Given the description of an element on the screen output the (x, y) to click on. 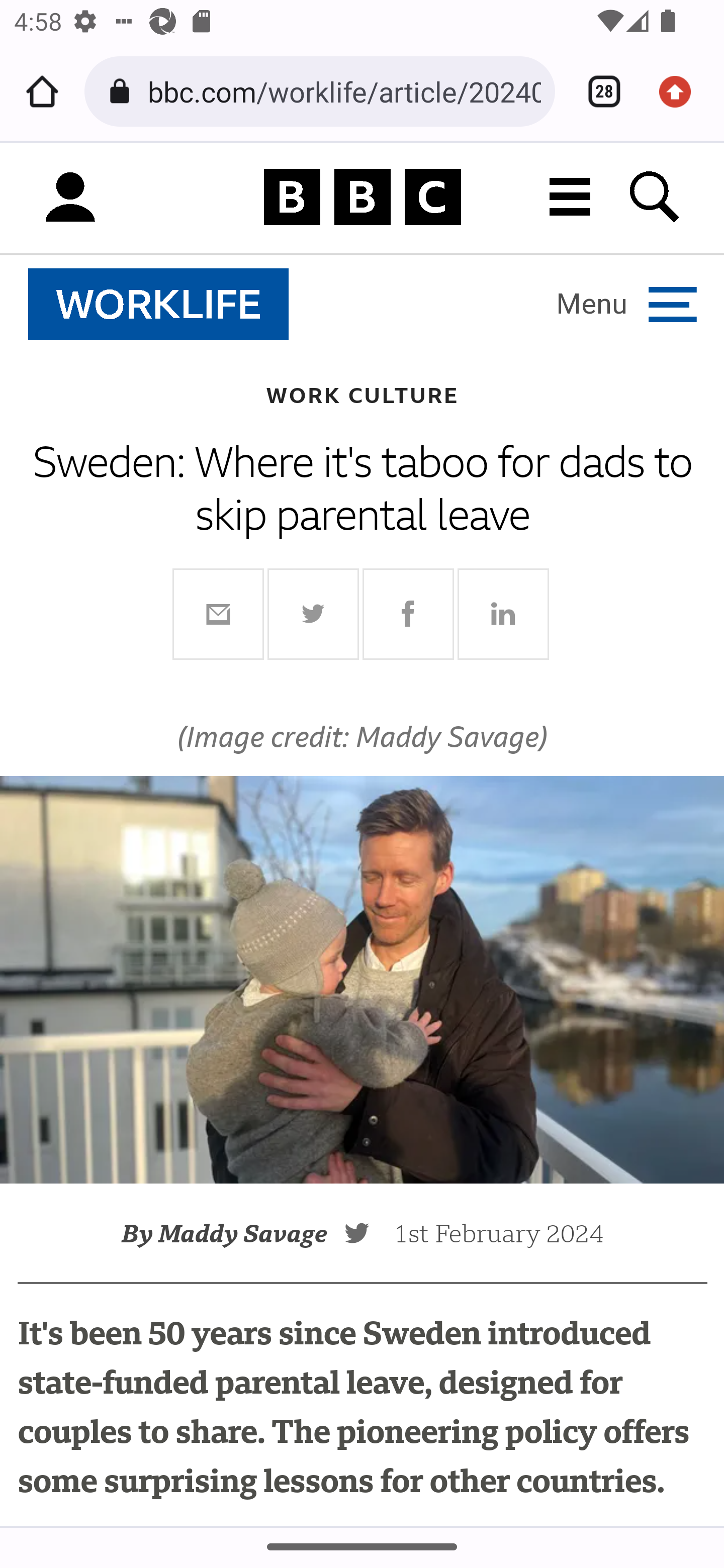
Home (42, 91)
Connection is secure (122, 91)
Switch or close tabs (597, 91)
Update available. More options (681, 91)
All BBC destinations menu (570, 197)
Search BBC (655, 197)
Sign in (70, 198)
Homepage (361, 198)
Open more navigation (627, 304)
worklife (159, 304)
WORK CULTURE (362, 394)
 Share using Email  Share using Email (218, 613)
 Share on Twitter  Share on Twitter (313, 613)
 Share on Facebook  Share on Facebook (407, 613)
 Share on Linkedin  Share on Linkedin (502, 613)
By Maddy Savage (232, 1233)
 (368, 1232)
